Given the description of an element on the screen output the (x, y) to click on. 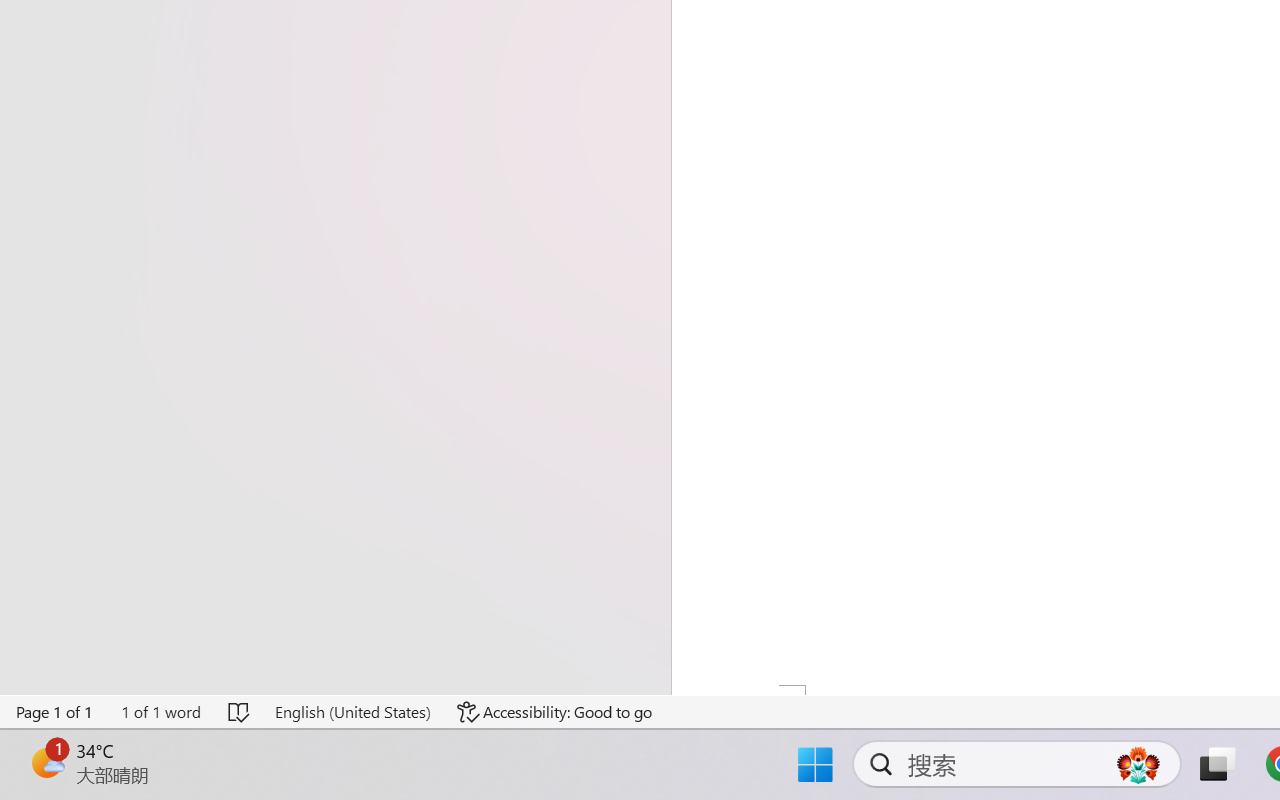
Page Number Page 1 of 1 (55, 712)
